Given the description of an element on the screen output the (x, y) to click on. 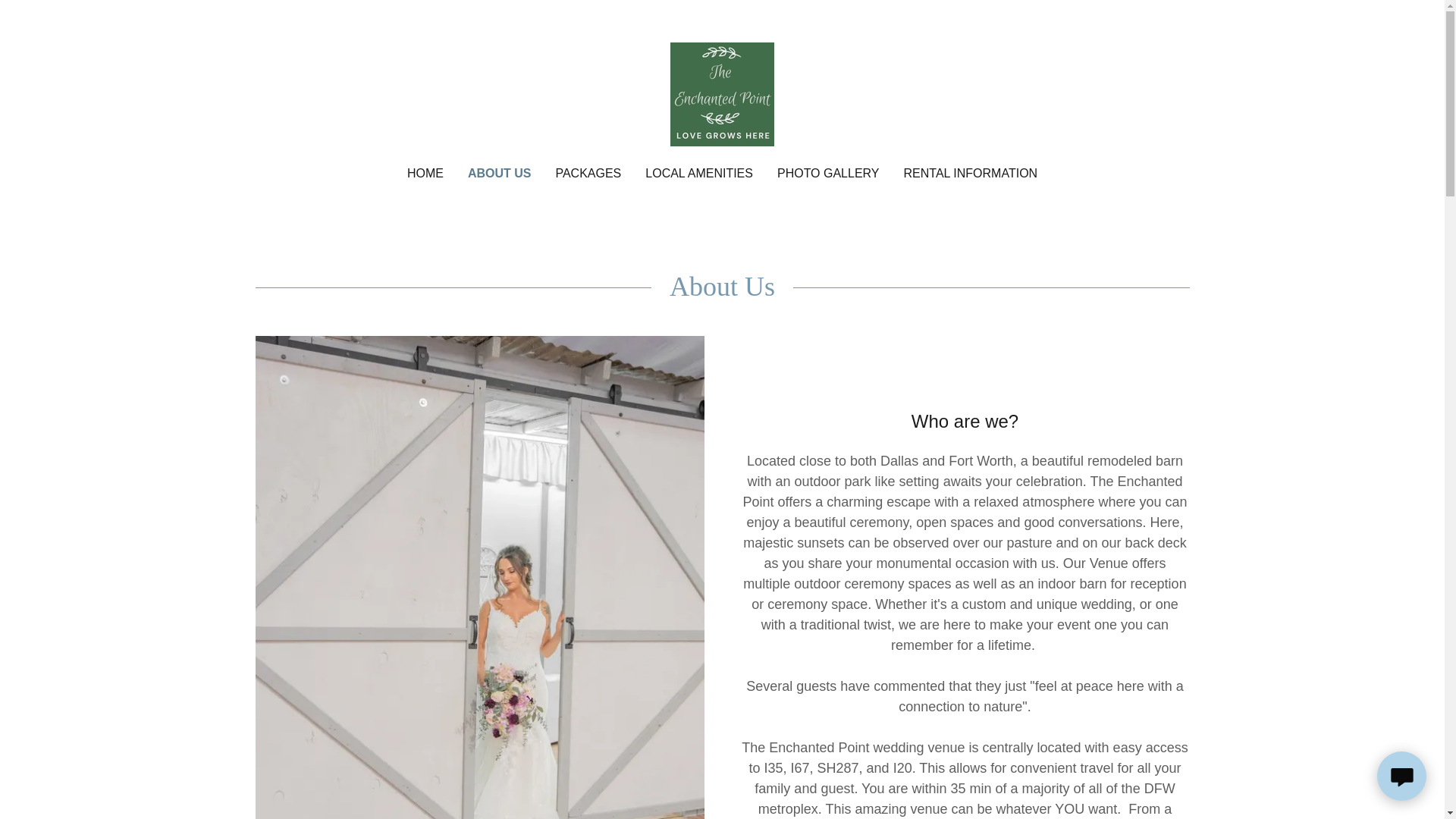
PACKAGES (588, 173)
The Enchanted Point (721, 92)
RENTAL INFORMATION (970, 173)
LOCAL AMENITIES (698, 173)
HOME (425, 173)
ABOUT US (499, 173)
PHOTO GALLERY (828, 173)
